Given the description of an element on the screen output the (x, y) to click on. 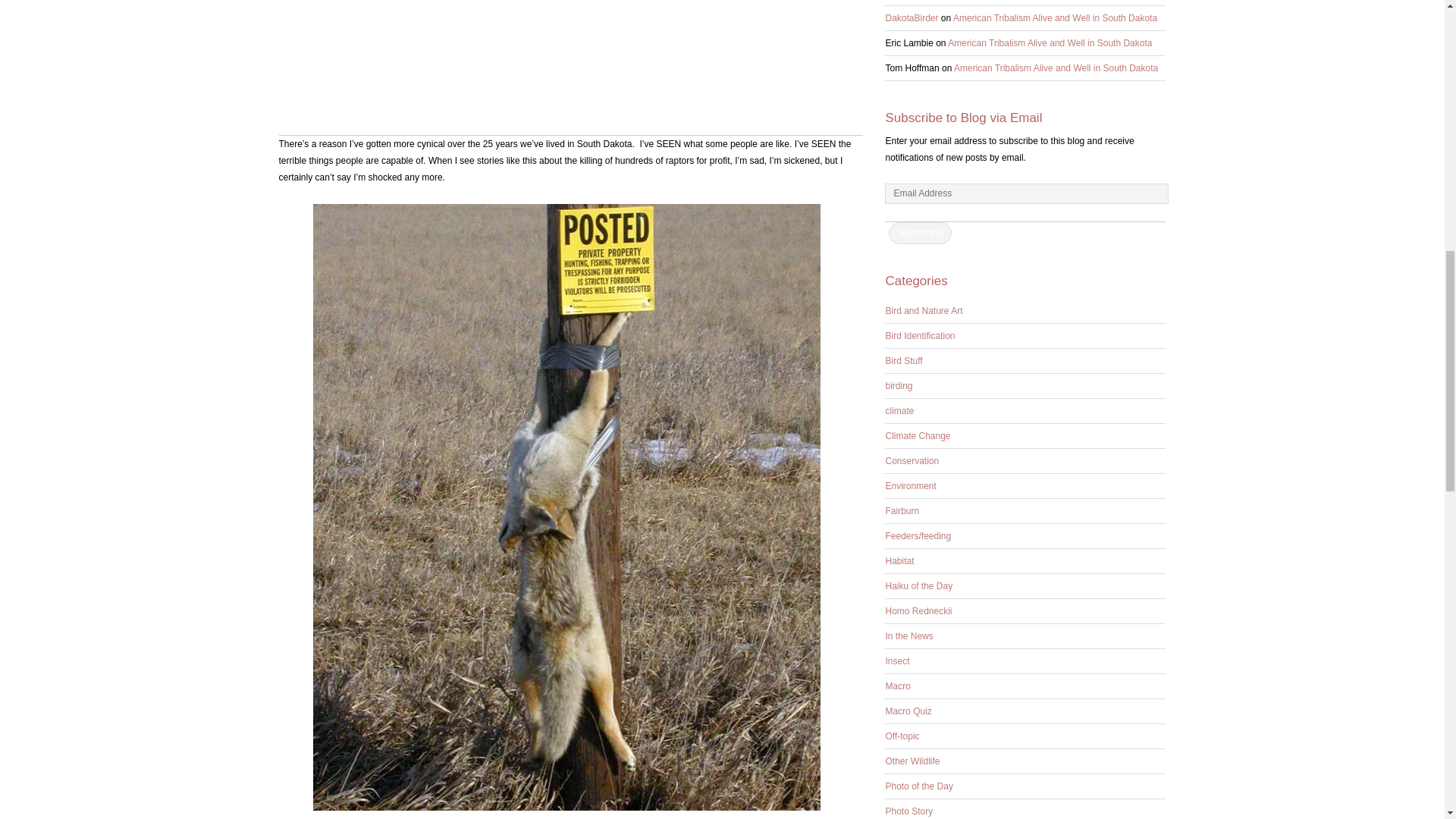
Advertisement (571, 67)
